Given the description of an element on the screen output the (x, y) to click on. 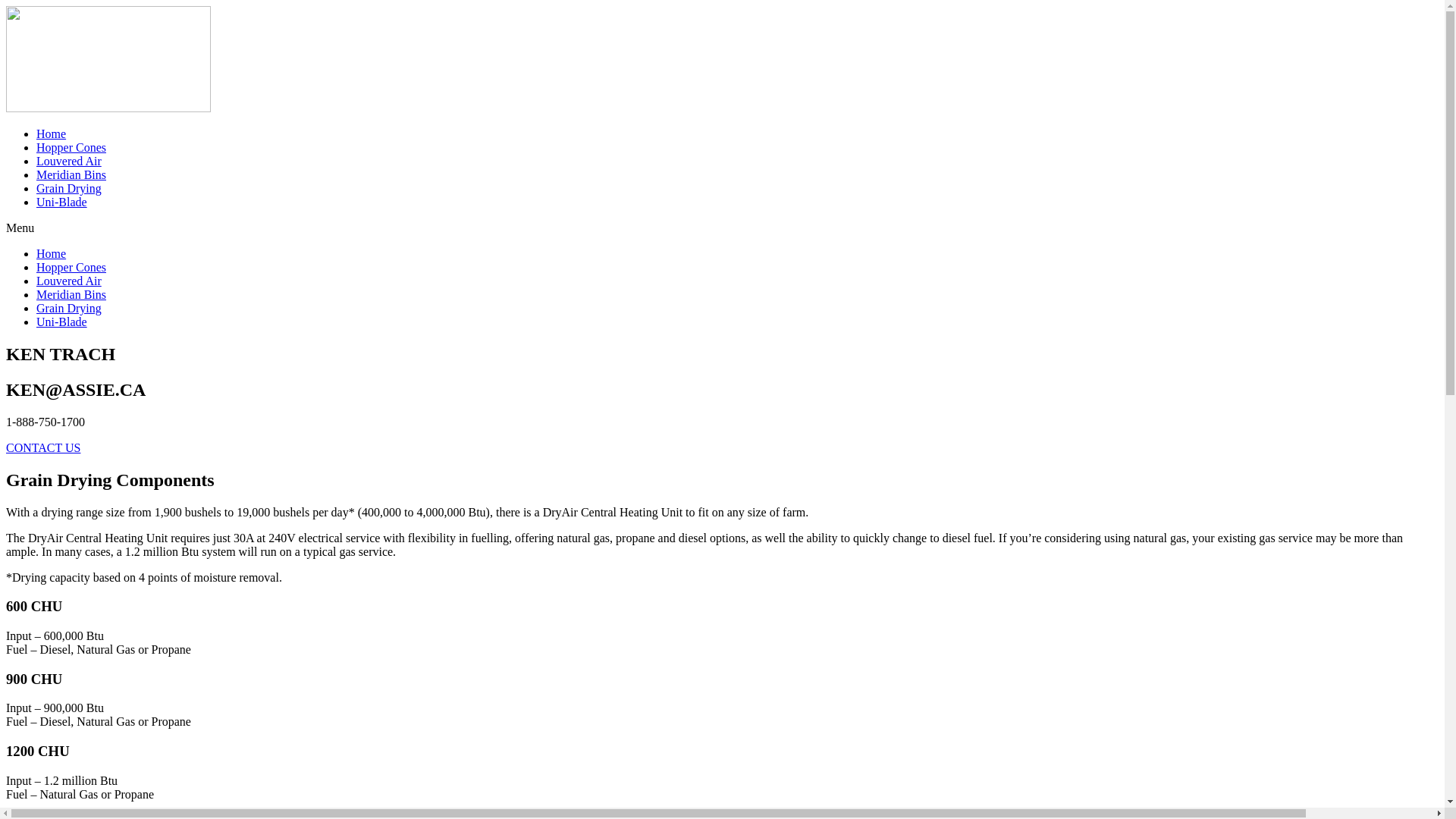
Uni-Blade Element type: text (61, 321)
Home Element type: text (50, 133)
Meridian Bins Element type: text (71, 294)
Hopper Cones Element type: text (71, 147)
Grain Drying Element type: text (68, 188)
Uni-Blade Element type: text (61, 201)
Home Element type: text (50, 253)
Louvered Air Element type: text (68, 280)
CONTACT US Element type: text (43, 447)
Louvered Air Element type: text (68, 160)
Hopper Cones Element type: text (71, 266)
Grain Drying Element type: text (68, 307)
Meridian Bins Element type: text (71, 174)
